Given the description of an element on the screen output the (x, y) to click on. 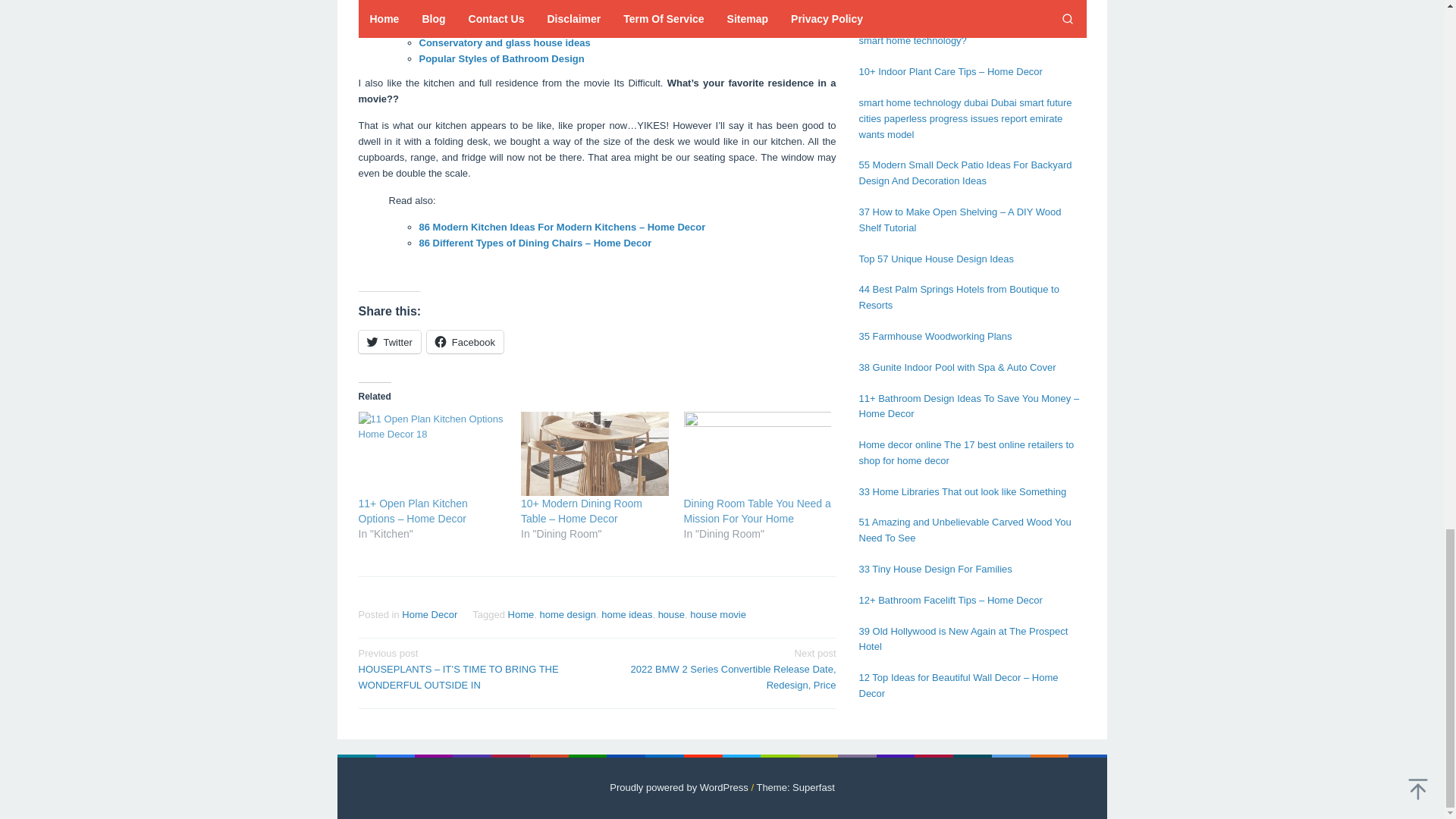
Home (521, 614)
Dining Room Table You Need a Mission For Your Home (757, 510)
Popular Styles of Bathroom Design (501, 58)
home design (566, 614)
house (671, 614)
Click to share on Facebook (464, 341)
Home Decor (429, 614)
home ideas (626, 614)
Conservatory and glass house ideas (504, 42)
Twitter (389, 341)
house movie (717, 614)
Facebook (464, 341)
Click to share on Twitter (389, 341)
